Given the description of an element on the screen output the (x, y) to click on. 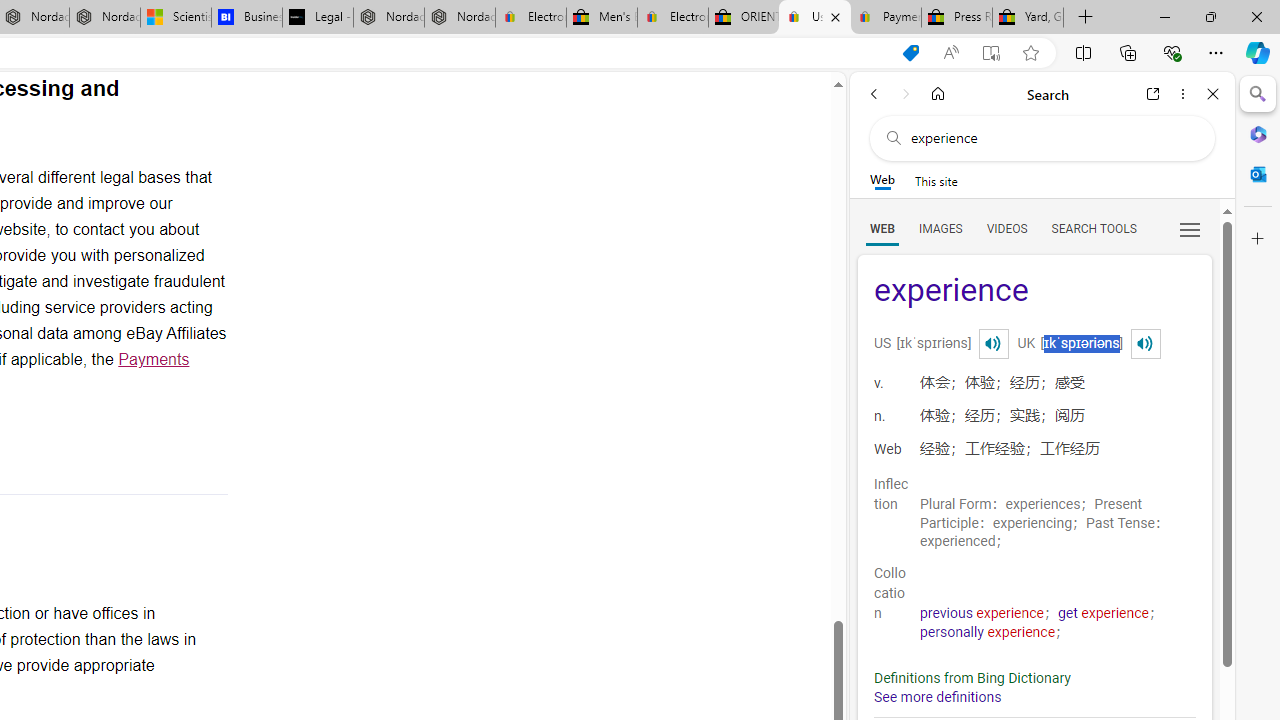
SEARCH TOOLS (1093, 228)
Nordace - Summer Adventures 2024 (388, 17)
Class: dict_pnIcon rms_img (1145, 343)
Yard, Garden & Outdoor Living (1028, 17)
Forward (906, 93)
This site has coupons! Shopping in Microsoft Edge (910, 53)
